Given the description of an element on the screen output the (x, y) to click on. 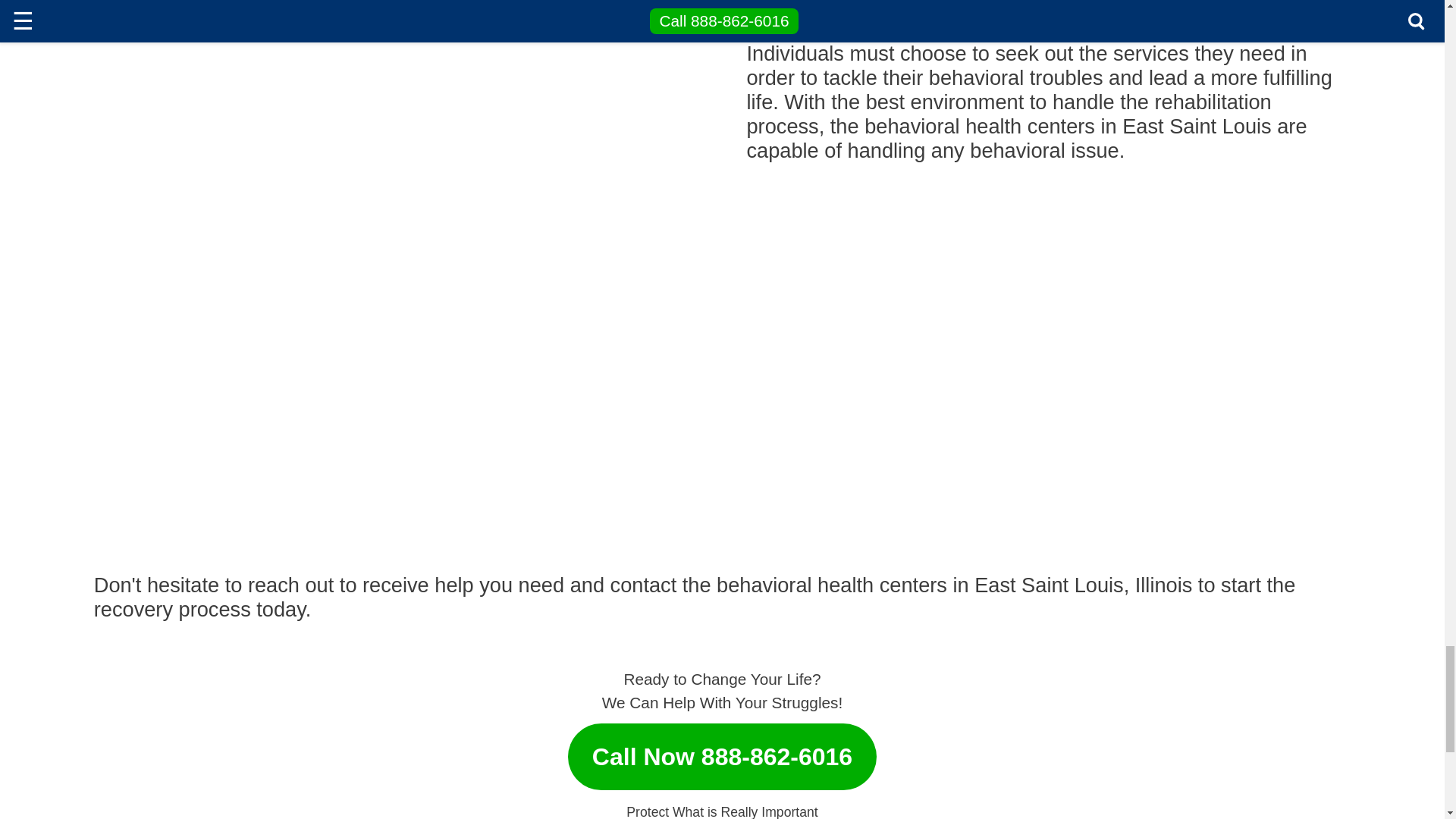
Call Now 888-862-6016 (722, 749)
